Given the description of an element on the screen output the (x, y) to click on. 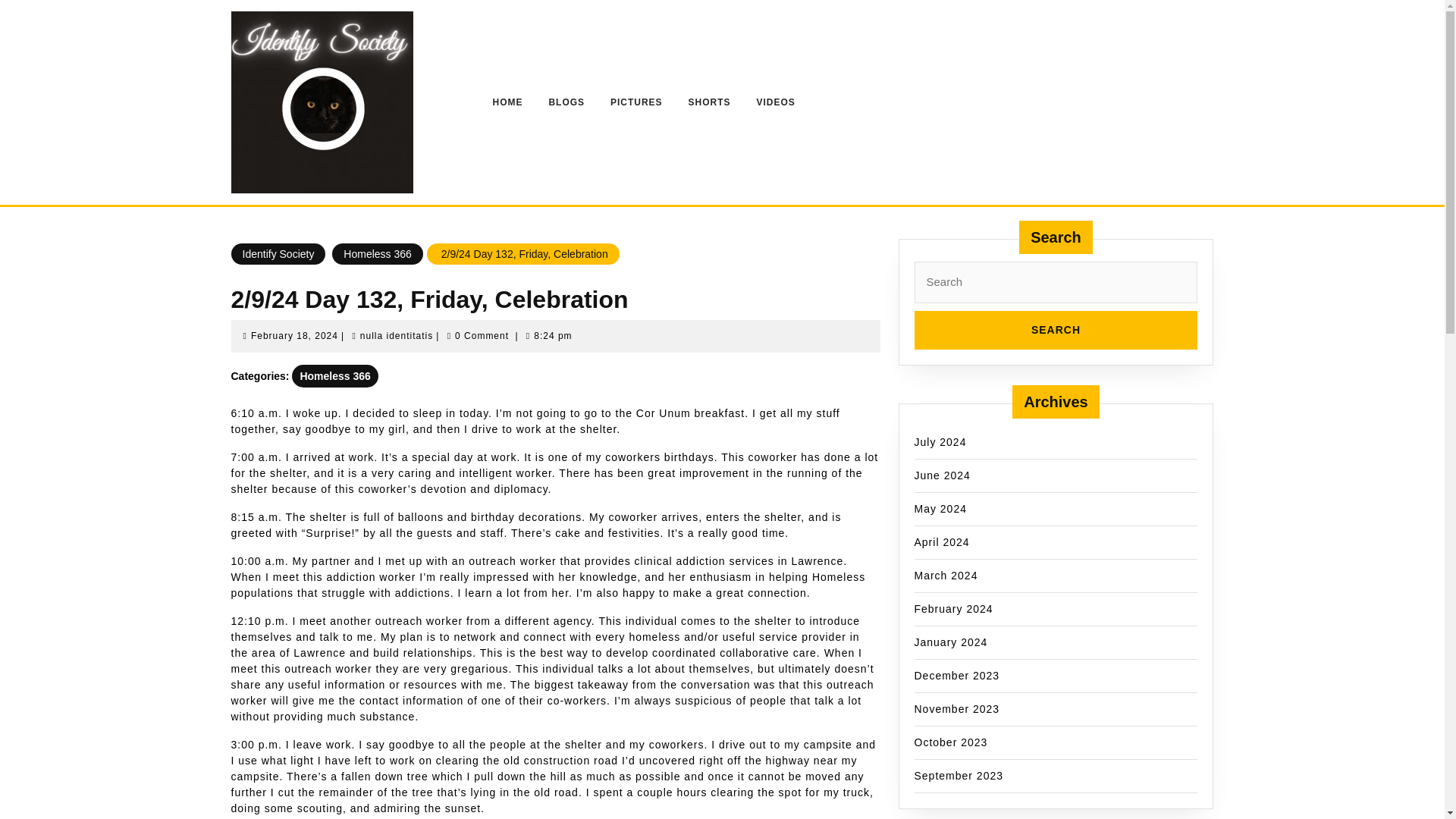
PICTURES (636, 101)
April 2024 (395, 335)
December 2023 (941, 541)
HOME (957, 674)
Search (293, 335)
Search (507, 101)
October 2023 (1056, 330)
September 2023 (1056, 330)
BLOGS (951, 741)
February 2024 (959, 775)
VIDEOS (566, 101)
May 2024 (953, 607)
Homeless 366 (775, 101)
